Given the description of an element on the screen output the (x, y) to click on. 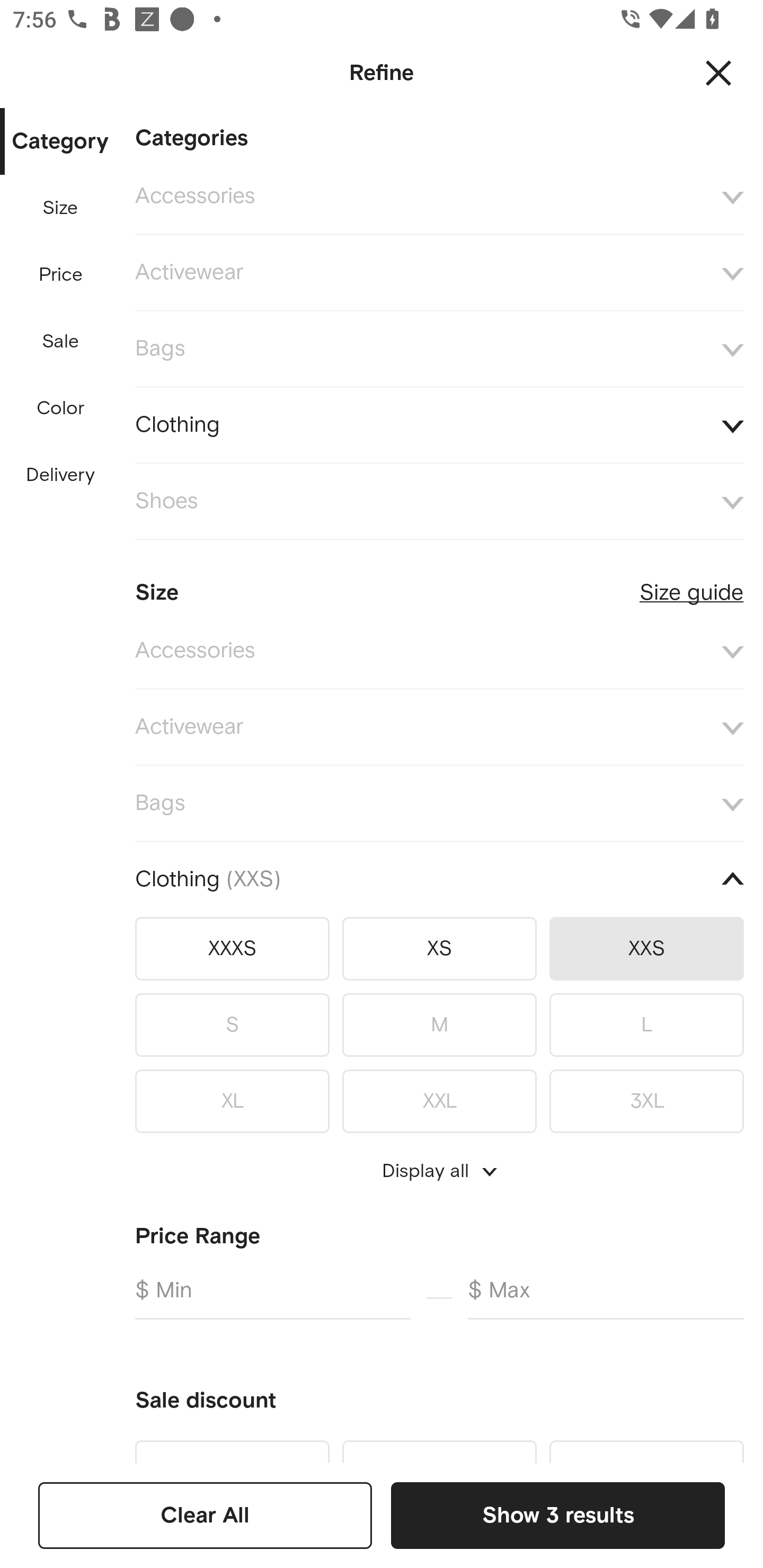
Category (60, 141)
Accessories (439, 196)
Size (60, 208)
Activewear (439, 272)
Price (60, 274)
Sale (60, 342)
Bags (439, 348)
Color (60, 408)
Clothing (439, 425)
Delivery (60, 475)
Shoes (439, 501)
Size guide (691, 585)
Accessories (439, 651)
Activewear (439, 727)
Bags (439, 803)
Clothing (XXS) (439, 879)
XXXS (232, 948)
XS (439, 948)
XXS (646, 948)
S (232, 1024)
M (439, 1024)
L (646, 1024)
XL (232, 1098)
XXL (439, 1098)
3XL (646, 1098)
Display all (439, 1170)
$ Min (272, 1297)
$ Max (605, 1297)
Clear All (205, 1515)
Show 3 results (557, 1515)
